Given the description of an element on the screen output the (x, y) to click on. 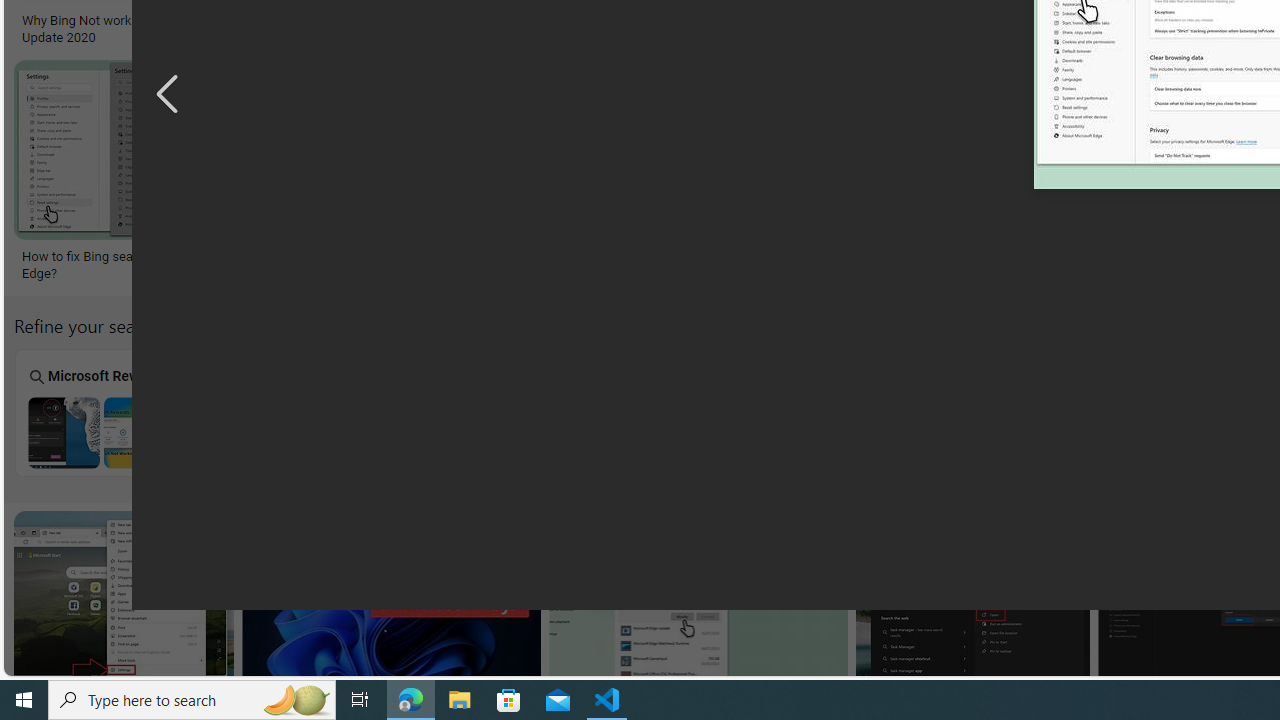
Microsoft Rewards Bing Search Not Working Microsoft Rewards (101, 412)
Microsoft Rewards Bing Search Not Working (102, 432)
Why Bing Not working on windows 10? Update 2020 (135, 29)
Bing Tablet Search Not Working Tablet (641, 412)
Microsoft Rewards (101, 412)
How to fix Bing search not working in Microsoft Edge? (1128, 264)
Bing Search the Web for Image Not Working Web For (1181, 412)
Bing Search Box Not Working Box (461, 412)
Bing Search Box Not Working (462, 432)
How to fix Bing search not working in Microsoft Edge? (1128, 264)
How to fix Bing search not working in Microsoft Edge?Save (174, 173)
